Given the description of an element on the screen output the (x, y) to click on. 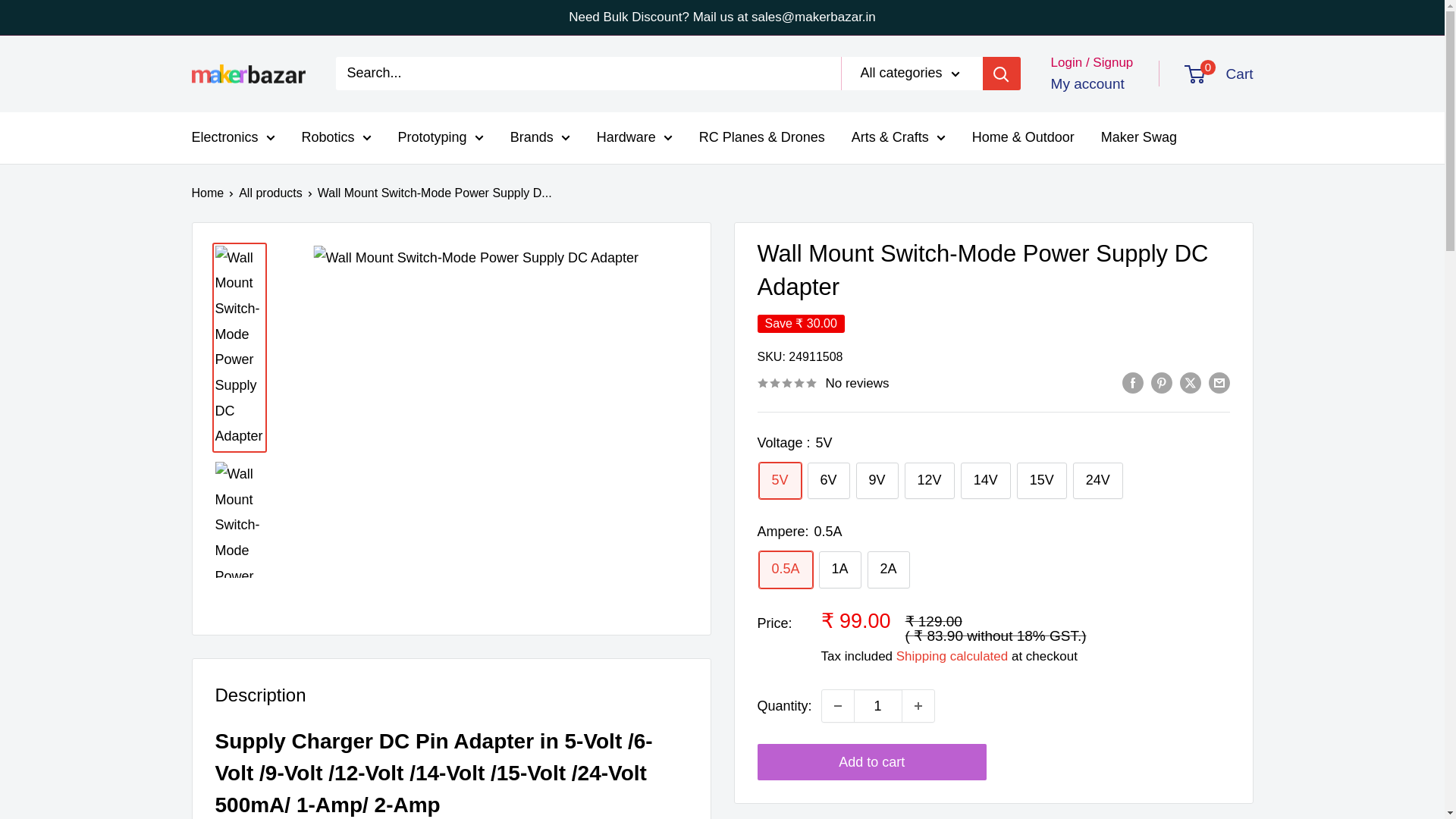
9V (877, 480)
5V (779, 480)
15V (1041, 480)
1A (839, 569)
Increase quantity by 1 (918, 705)
2A (888, 569)
6V (829, 480)
12V (929, 480)
Decrease quantity by 1 (837, 705)
0.5A (785, 569)
